Given the description of an element on the screen output the (x, y) to click on. 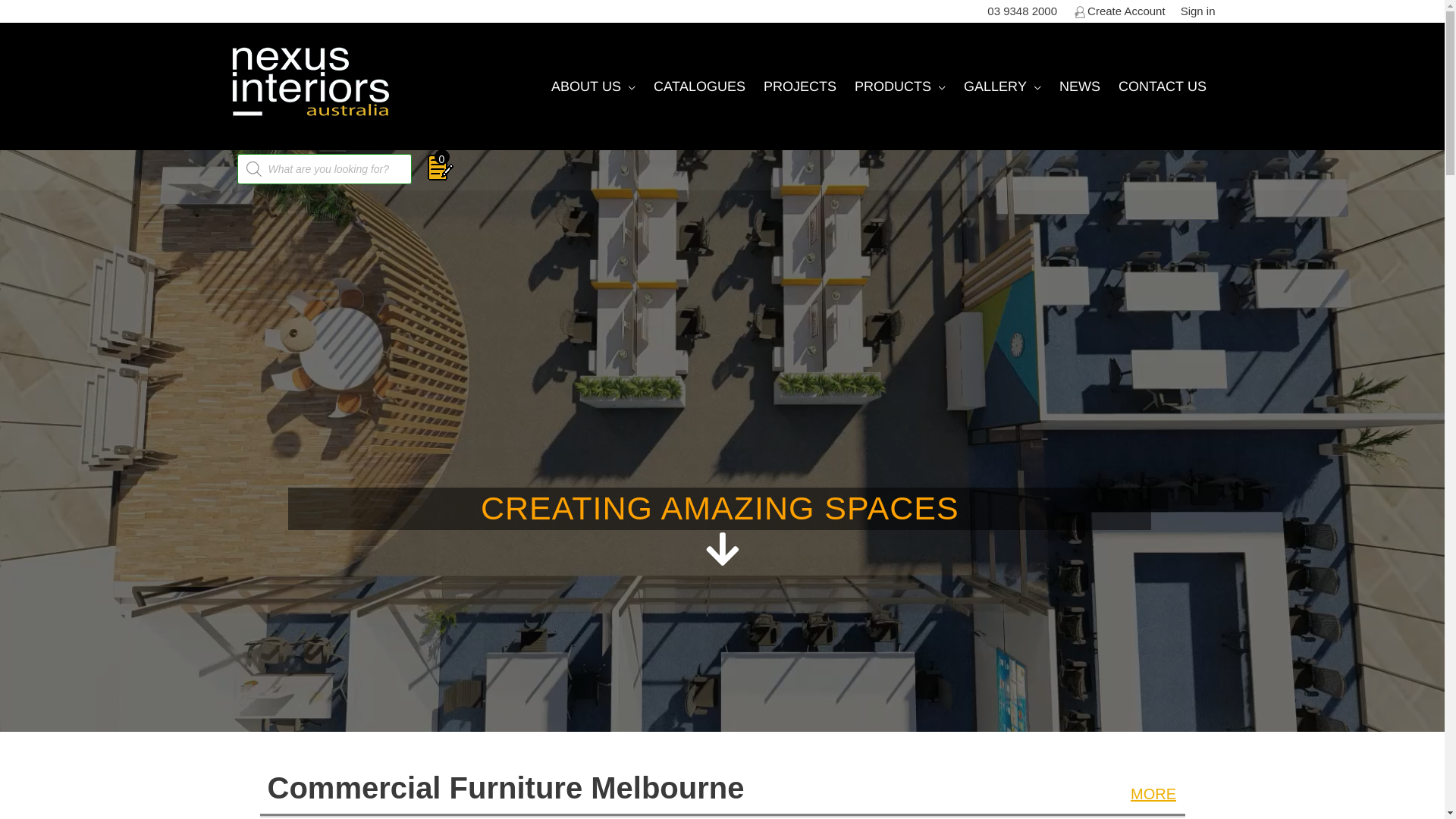
03 9348 2000 Element type: text (1022, 10)
Sign in Element type: text (1197, 10)
CONTACT US Element type: text (1161, 86)
CATALOGUES Element type: text (699, 86)
PRODUCTS Element type: text (898, 86)
MORE Element type: text (1153, 793)
NEWS Element type: text (1078, 86)
0 Element type: text (441, 168)
Create Account Element type: text (1118, 10)
GALLERY Element type: text (1001, 86)
ABOUT US Element type: text (592, 86)
PROJECTS Element type: text (798, 86)
